Given the description of an element on the screen output the (x, y) to click on. 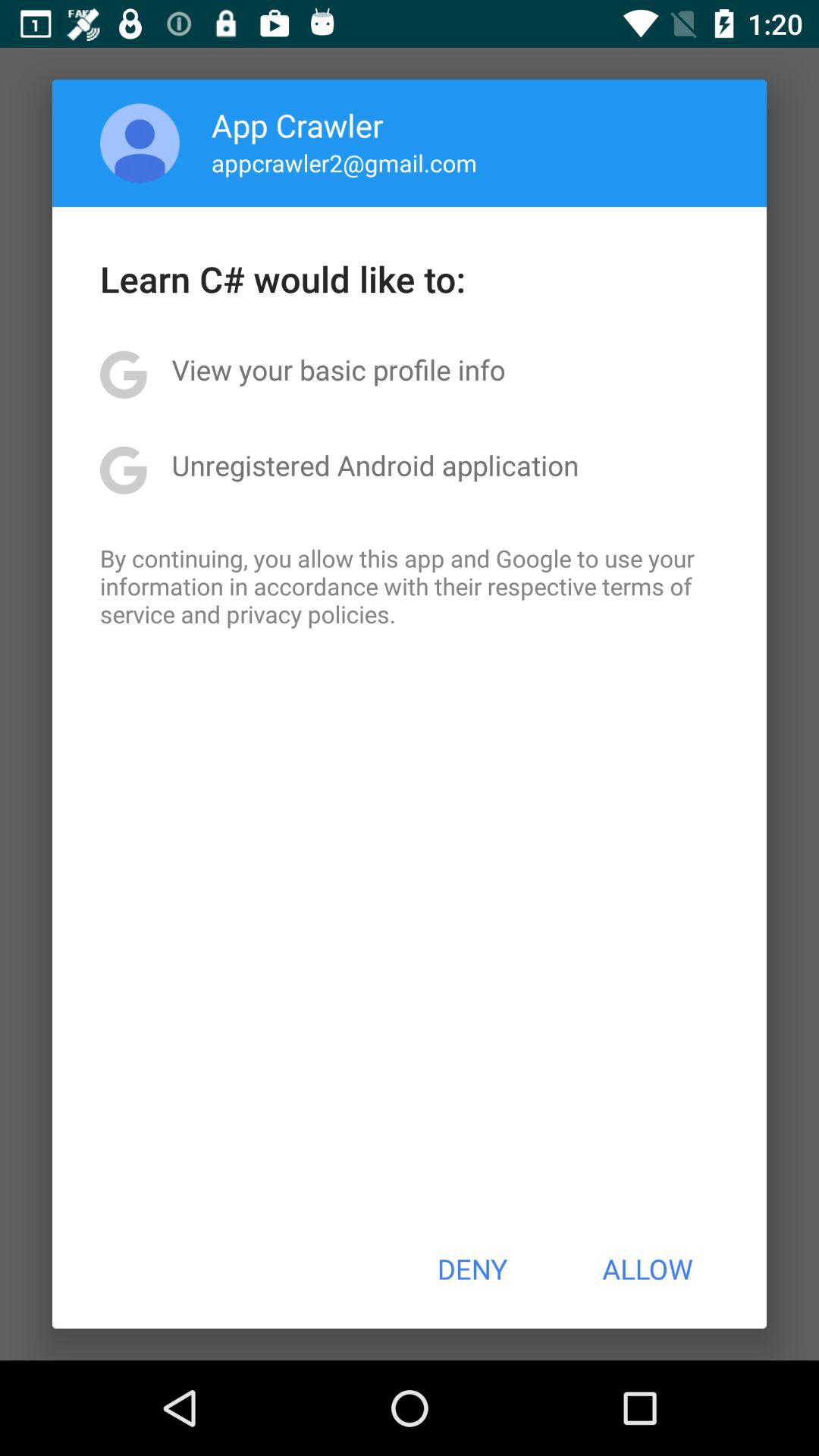
open the app below the learn c would icon (338, 369)
